Given the description of an element on the screen output the (x, y) to click on. 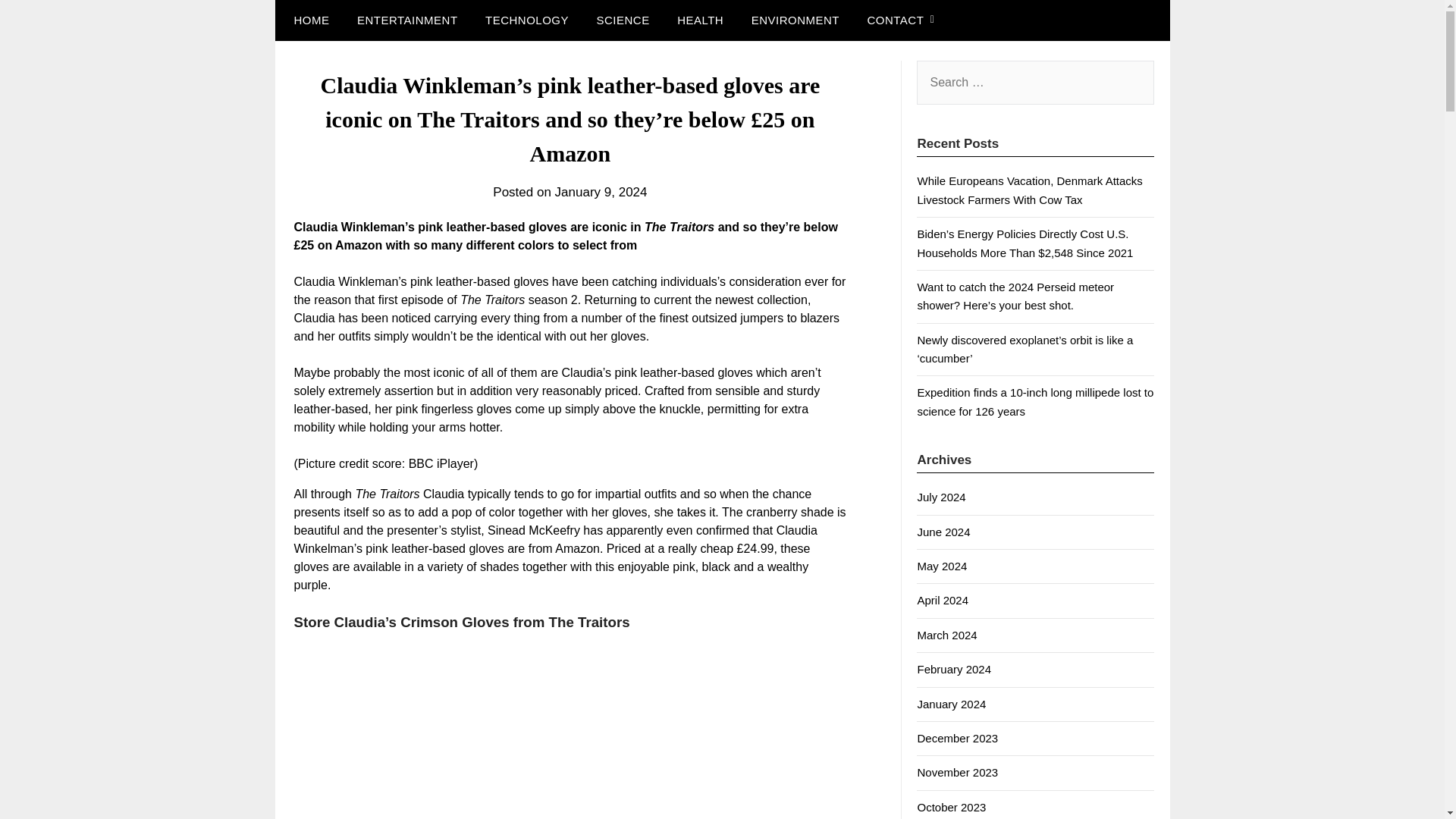
March 2024 (946, 634)
ENVIRONMENT (795, 20)
HEALTH (700, 20)
ENTERTAINMENT (407, 20)
Search (38, 22)
TECHNOLOGY (526, 20)
February 2024 (954, 668)
SCIENCE (622, 20)
December 2023 (957, 738)
CONTACT (895, 20)
July 2024 (941, 496)
October 2023 (951, 807)
HOME (307, 20)
January 2024 (951, 703)
